Given the description of an element on the screen output the (x, y) to click on. 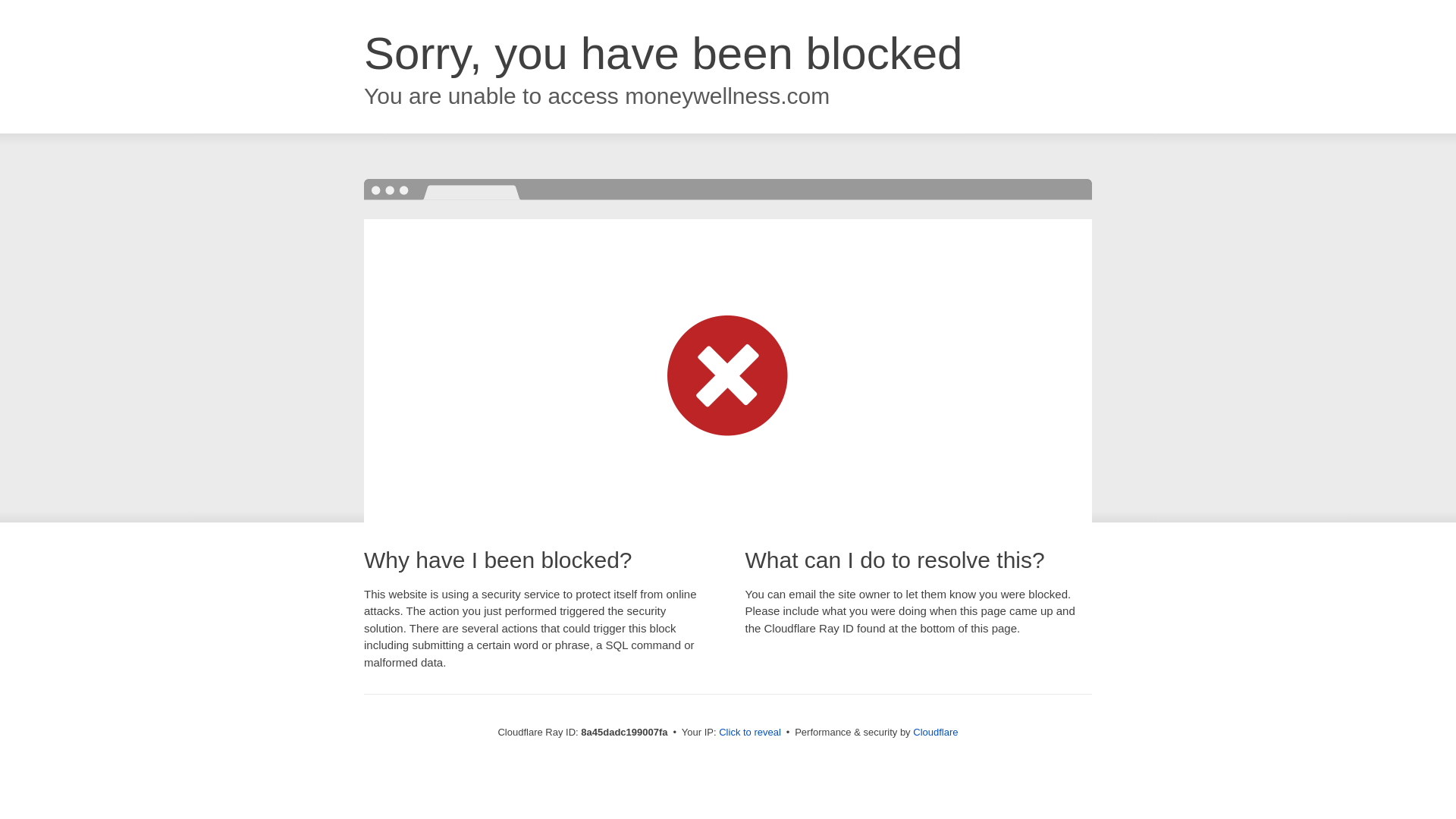
Click to reveal (749, 732)
Cloudflare (935, 731)
